Given the description of an element on the screen output the (x, y) to click on. 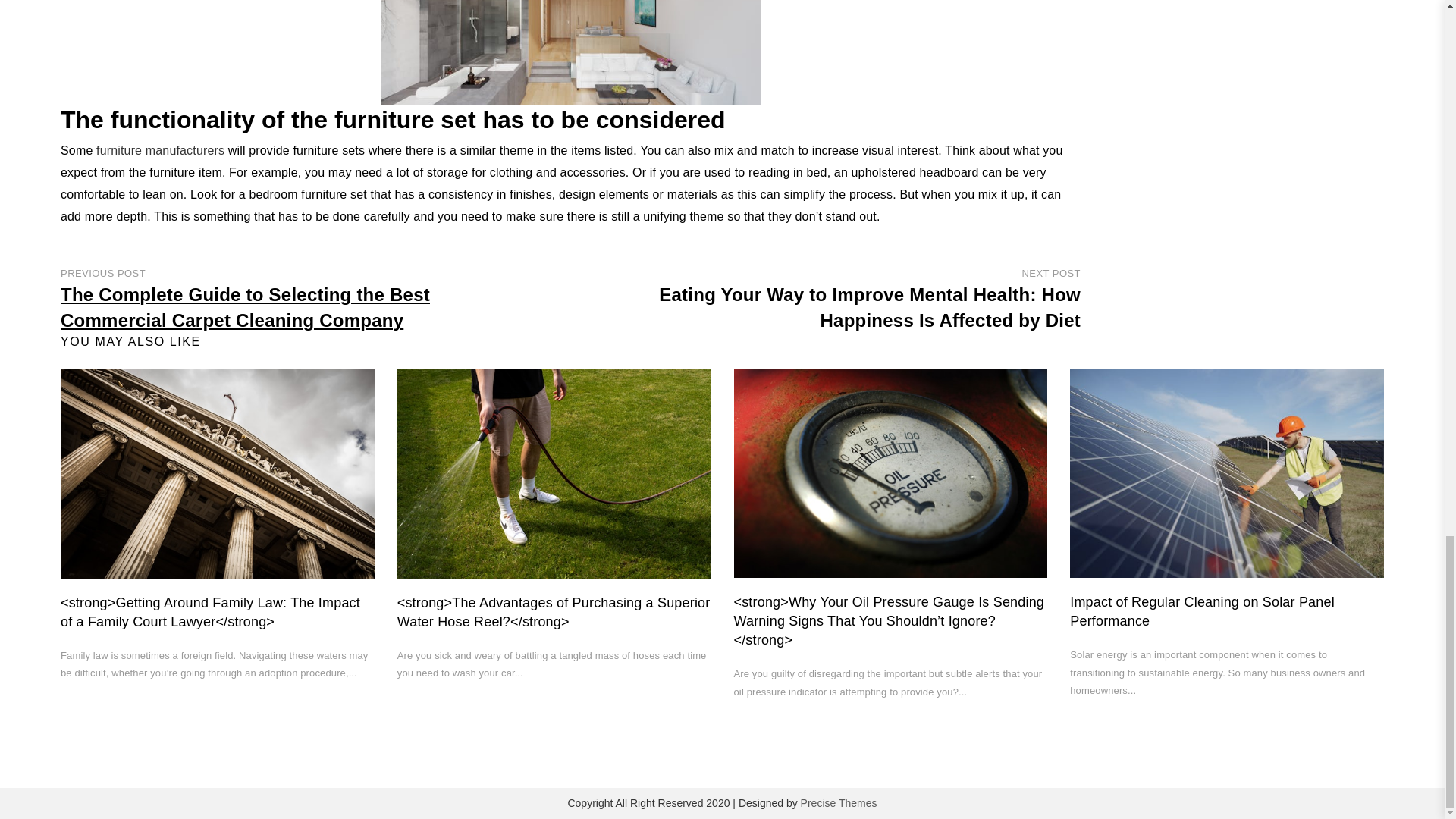
Impact of Regular Cleaning on Solar Panel Performance (1202, 611)
furniture manufacturers (160, 150)
Precise Themes (838, 802)
